Given the description of an element on the screen output the (x, y) to click on. 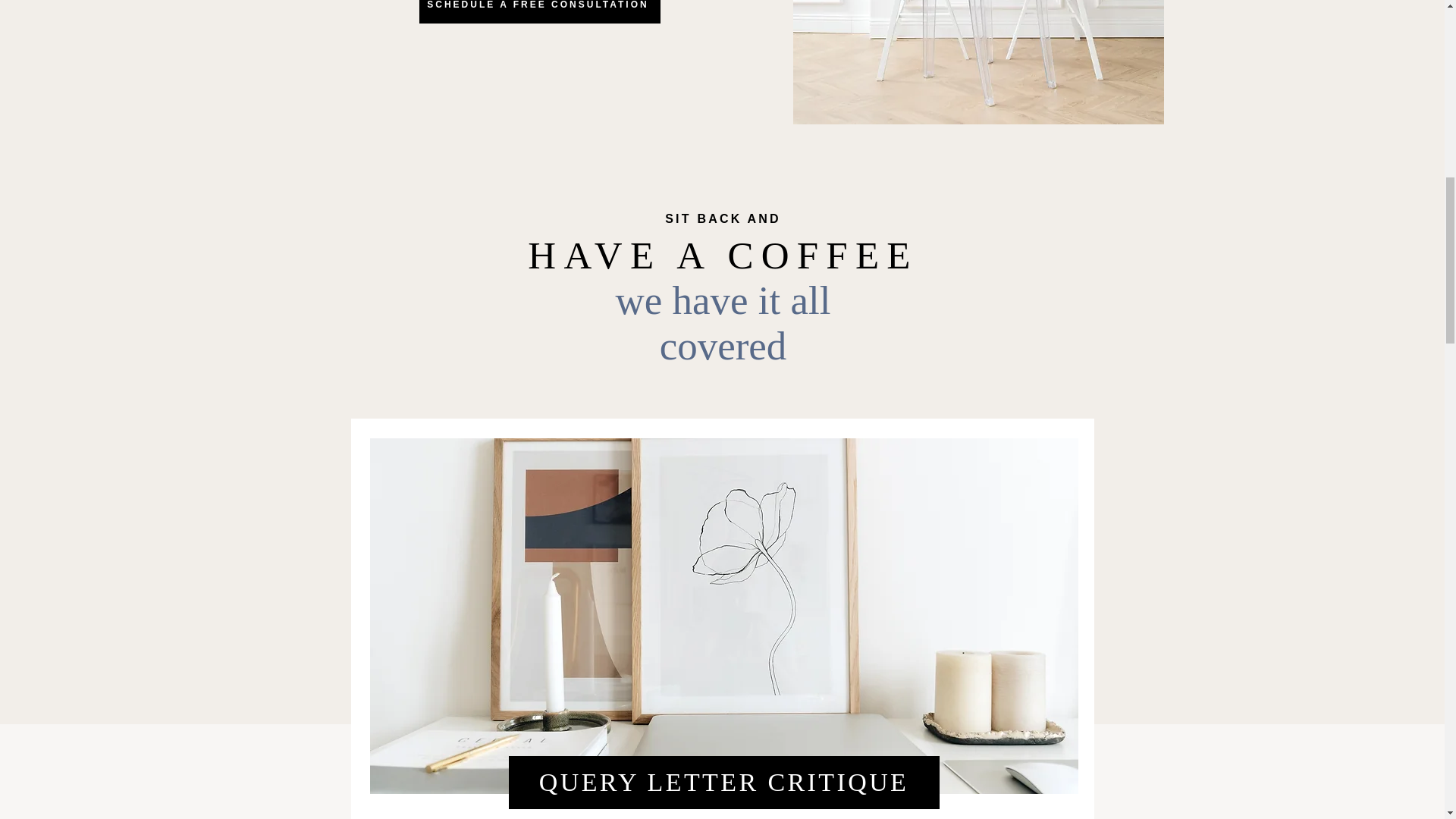
SCHEDULE A FREE CONSULTATION (539, 11)
